Given the description of an element on the screen output the (x, y) to click on. 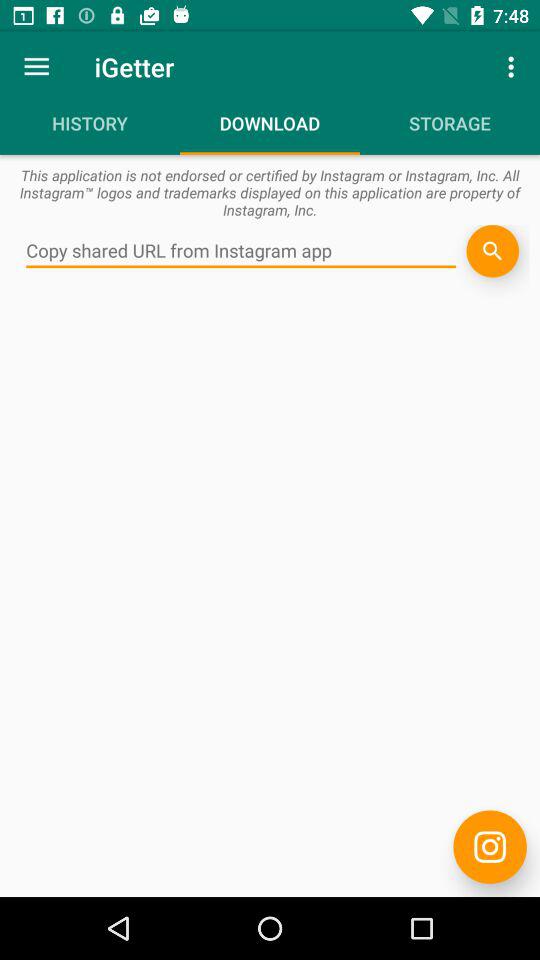
search (492, 251)
